Given the description of an element on the screen output the (x, y) to click on. 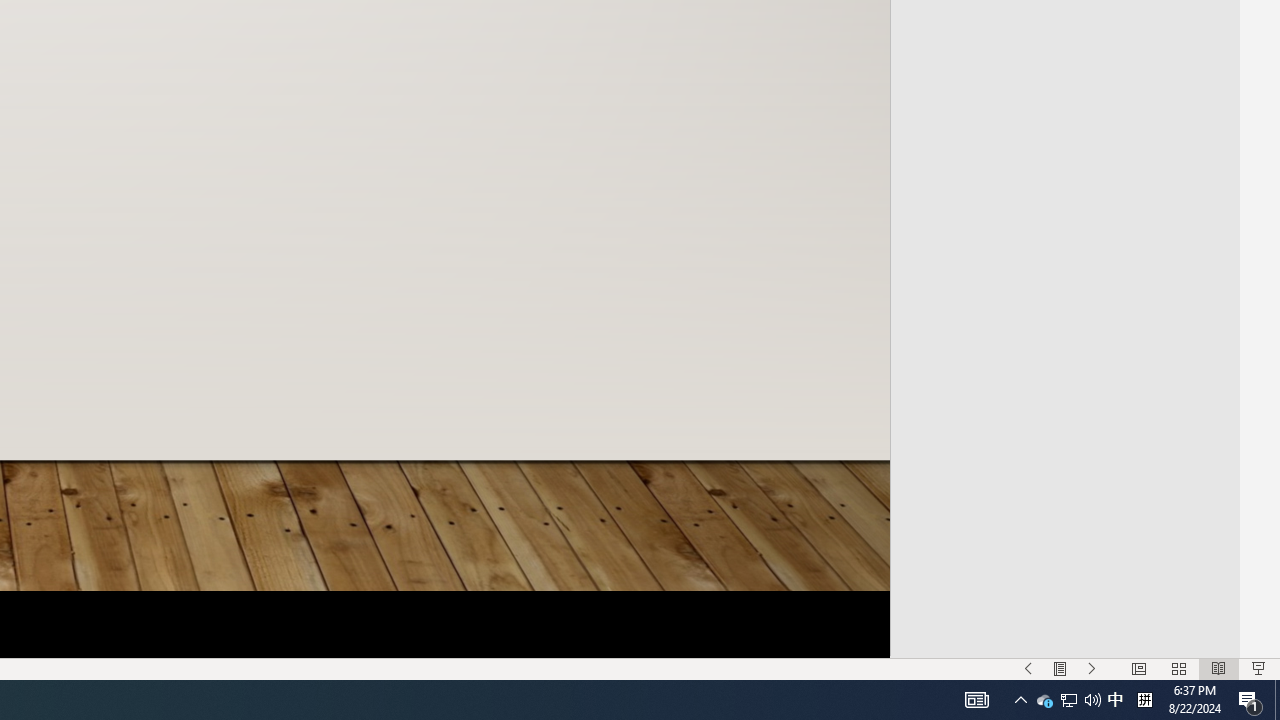
English (1063, 557)
Chinese Simplified (1063, 187)
Dogri (1063, 475)
Croatian (1063, 269)
Chhattisgarhi (1063, 105)
Cantonese (Traditional) (1063, 24)
Estonian (1063, 598)
